Given the description of an element on the screen output the (x, y) to click on. 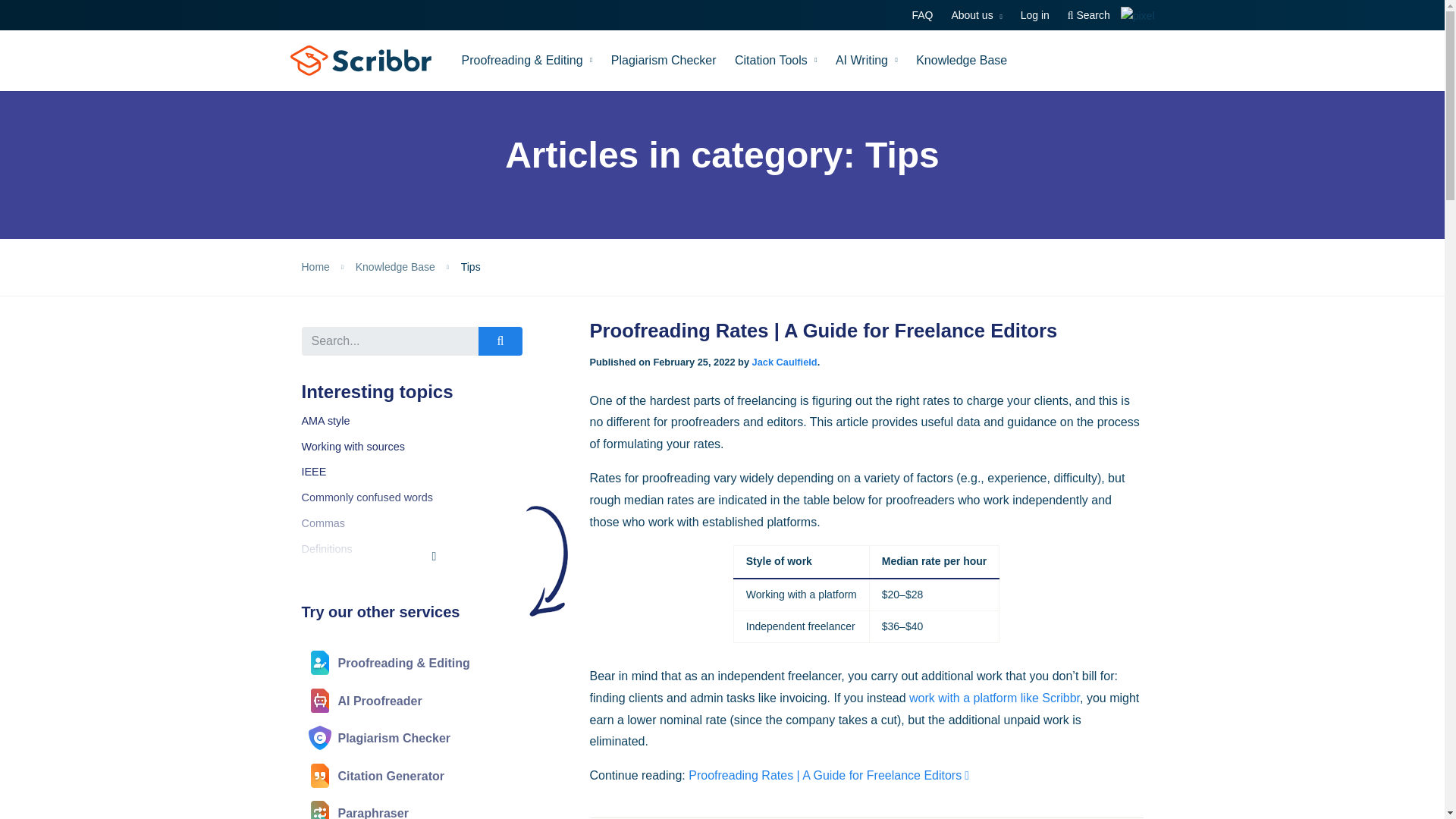
Search (1088, 15)
Plagiarism Checker (663, 60)
Citation Tools (775, 60)
View all articles about Working with sources (353, 445)
FAQ (921, 15)
View all articles about Commas (323, 522)
View all articles about Definitions (326, 548)
View all articles about AMA style (325, 420)
About us (976, 15)
View all articles about Commonly confused words (367, 497)
